Given the description of an element on the screen output the (x, y) to click on. 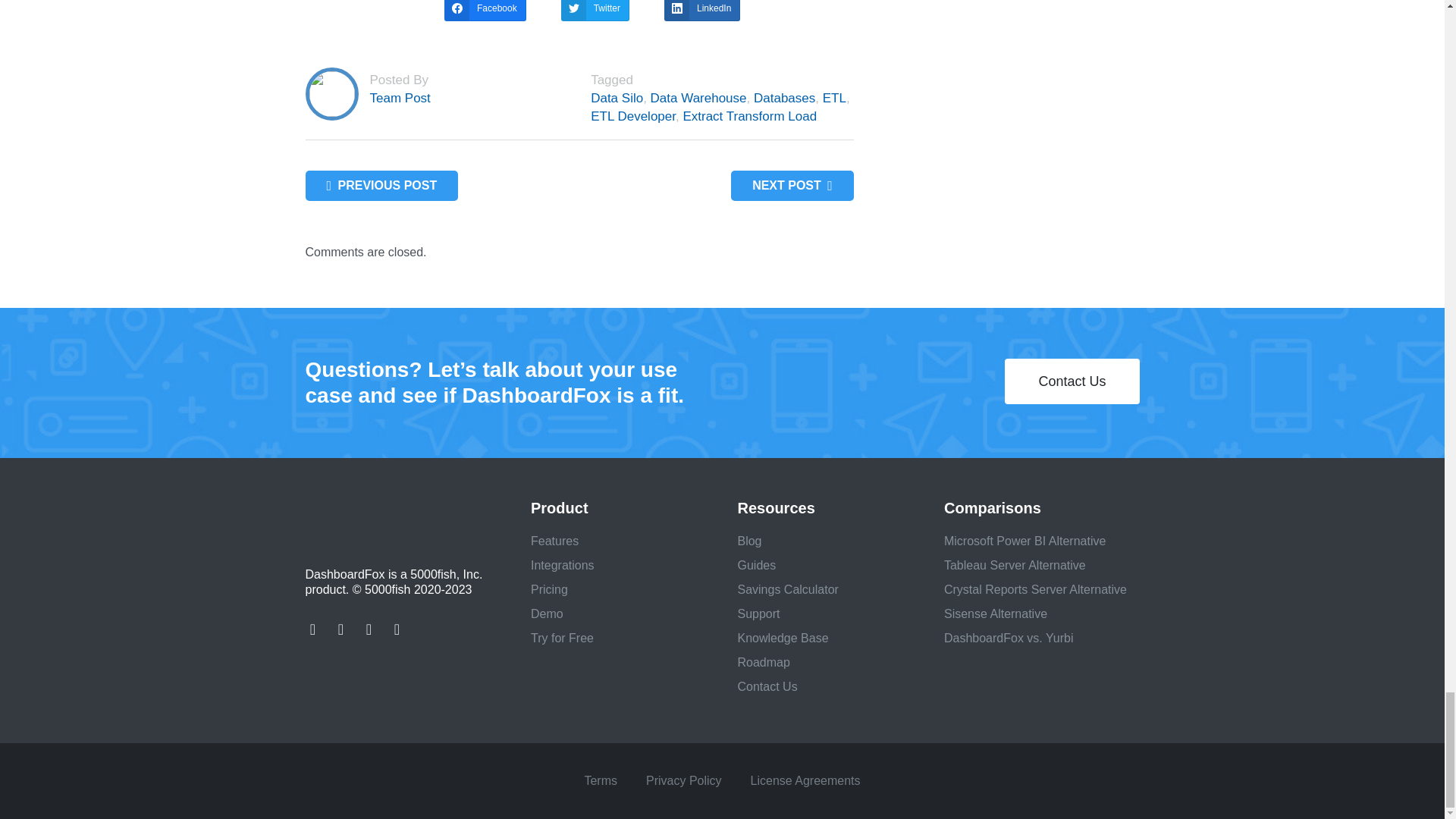
LinkedIn (701, 10)
Posts by Team Post (399, 97)
Team Post (399, 97)
5000fish (392, 517)
Twitter (594, 10)
Data Silo (617, 97)
Facebook (484, 10)
